Given the description of an element on the screen output the (x, y) to click on. 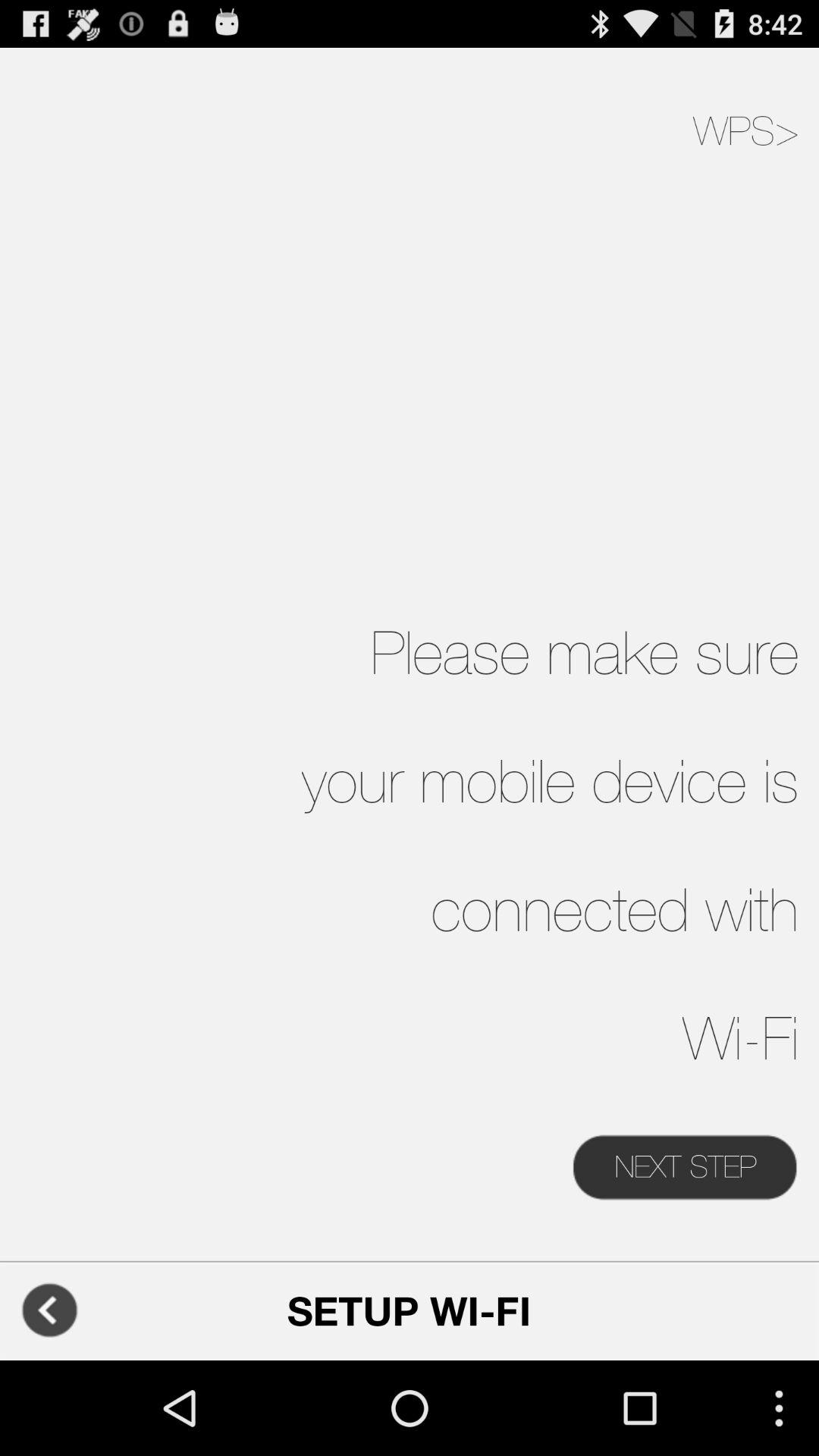
go to previous page (49, 1310)
